Given the description of an element on the screen output the (x, y) to click on. 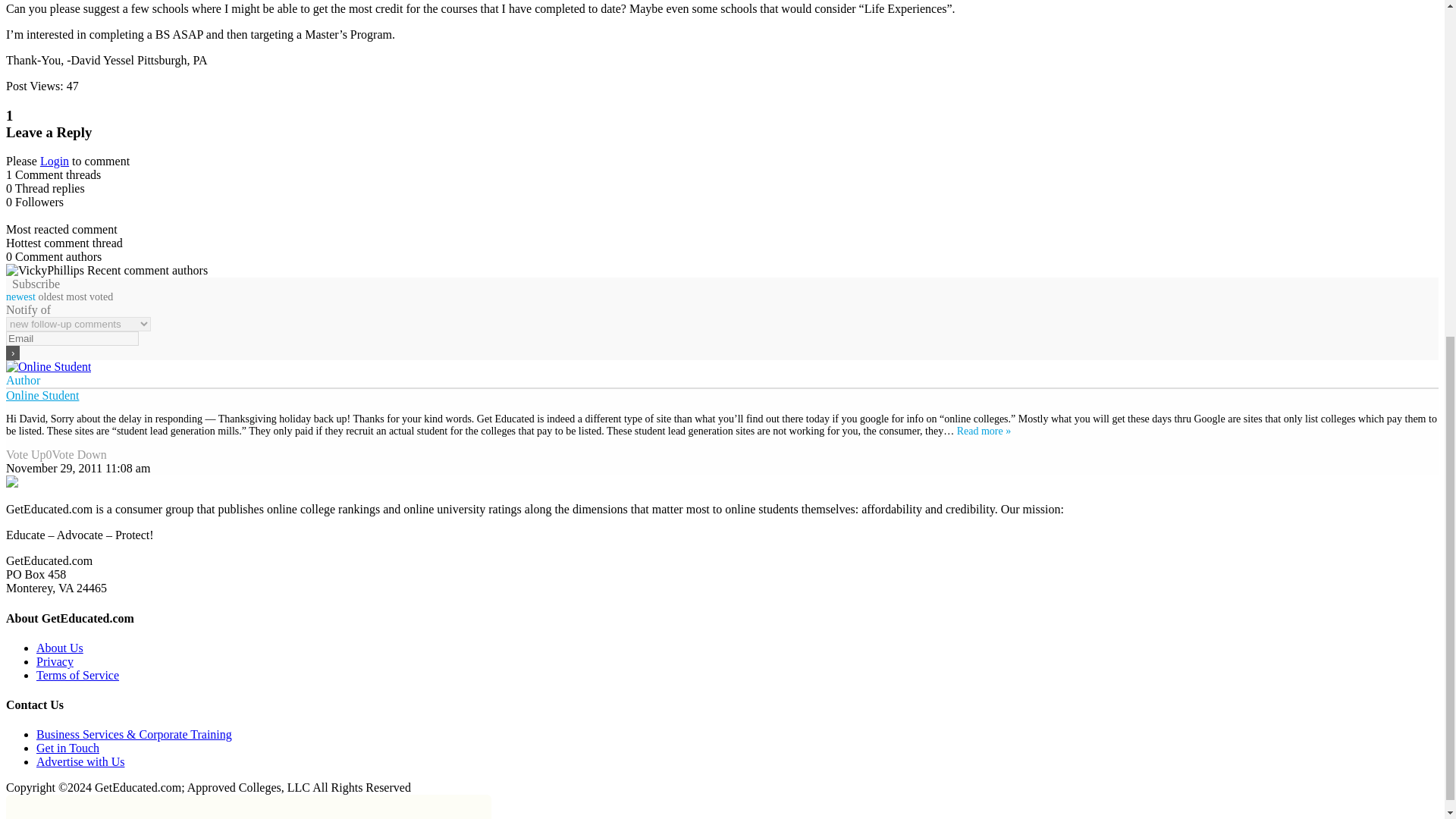
About Us (59, 647)
Privacy (55, 661)
Get in Touch (67, 748)
Advertise with Us (79, 761)
VickyPhillips (44, 270)
Online Student (41, 395)
Login (54, 160)
Terms of Service (77, 675)
